Given the description of an element on the screen output the (x, y) to click on. 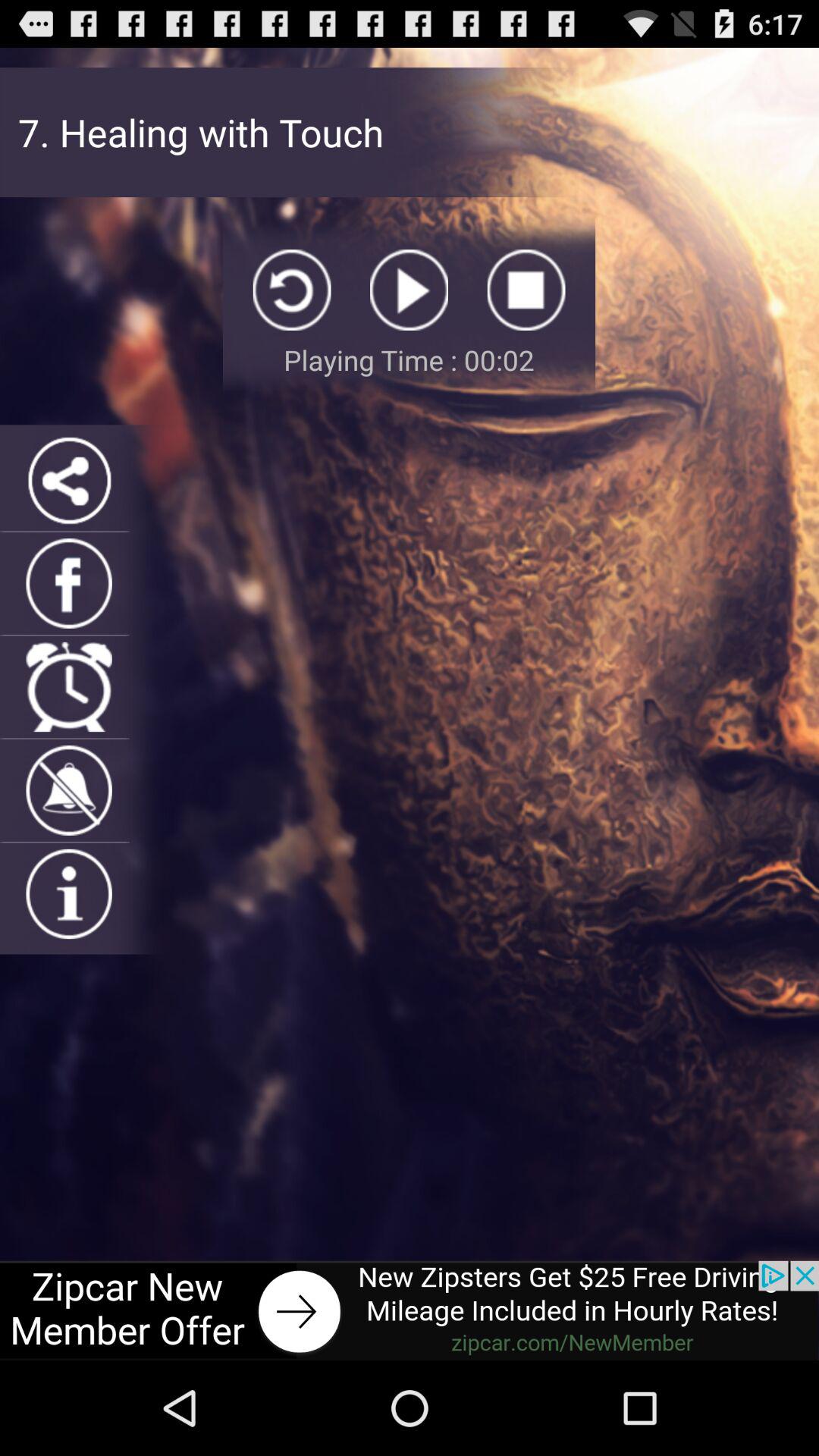
select alarm feature (69, 686)
